Given the description of an element on the screen output the (x, y) to click on. 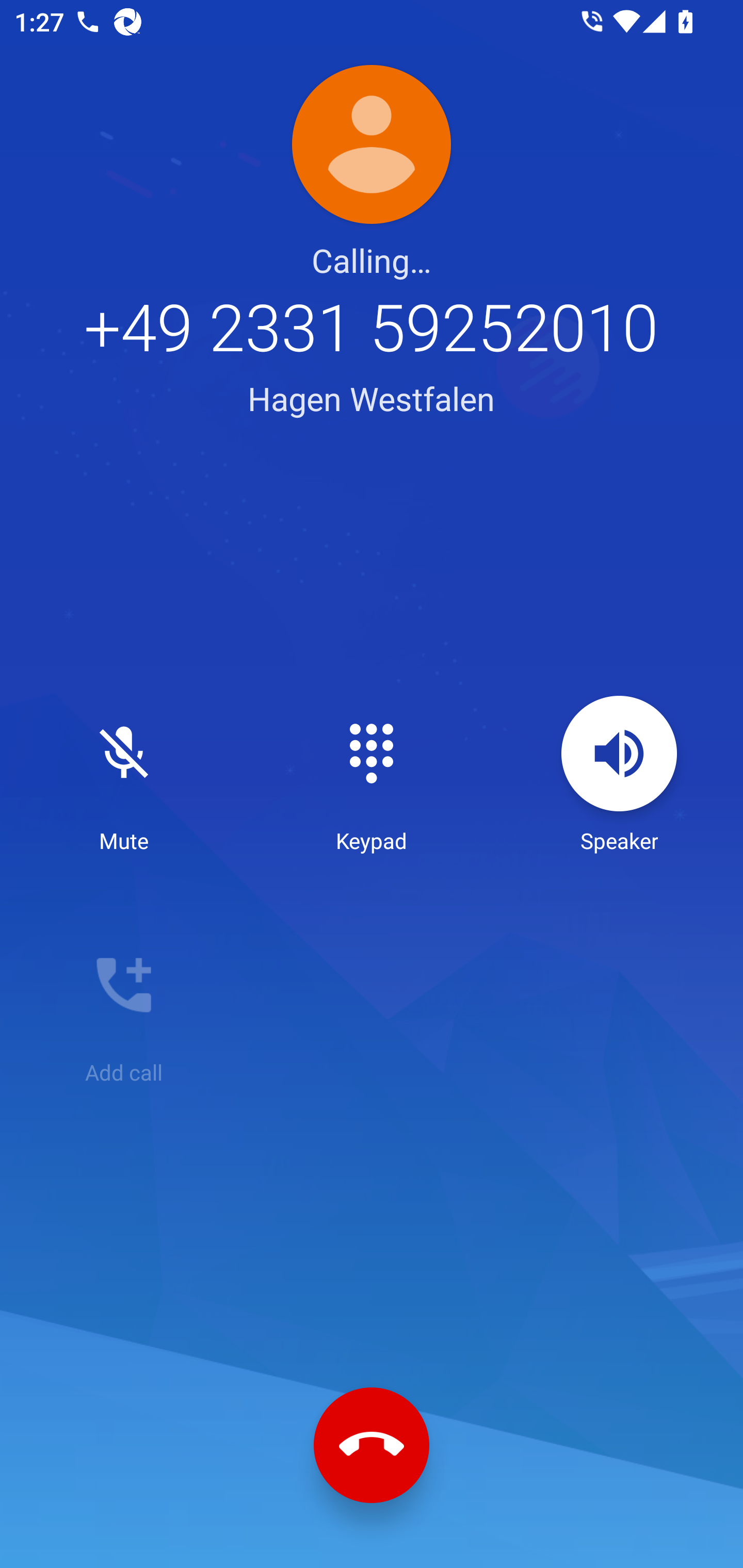
Unmuted Mute (123, 775)
Keypad (371, 775)
Speaker, is on Speaker (619, 775)
Add call (123, 1007)
End call (371, 1445)
